Given the description of an element on the screen output the (x, y) to click on. 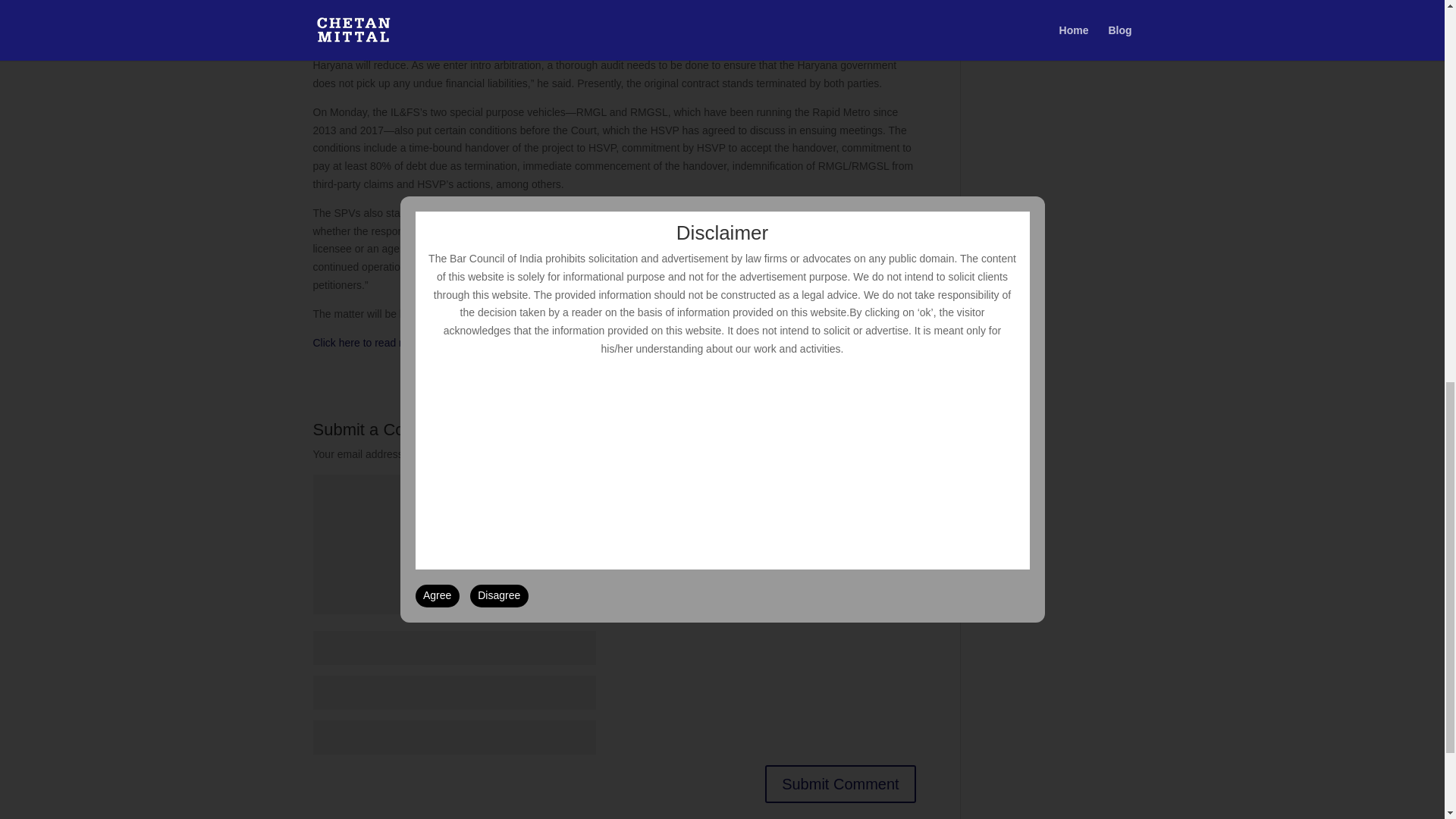
Submit Comment (840, 783)
Submit Comment (840, 783)
Click here to read more (368, 342)
